Given the description of an element on the screen output the (x, y) to click on. 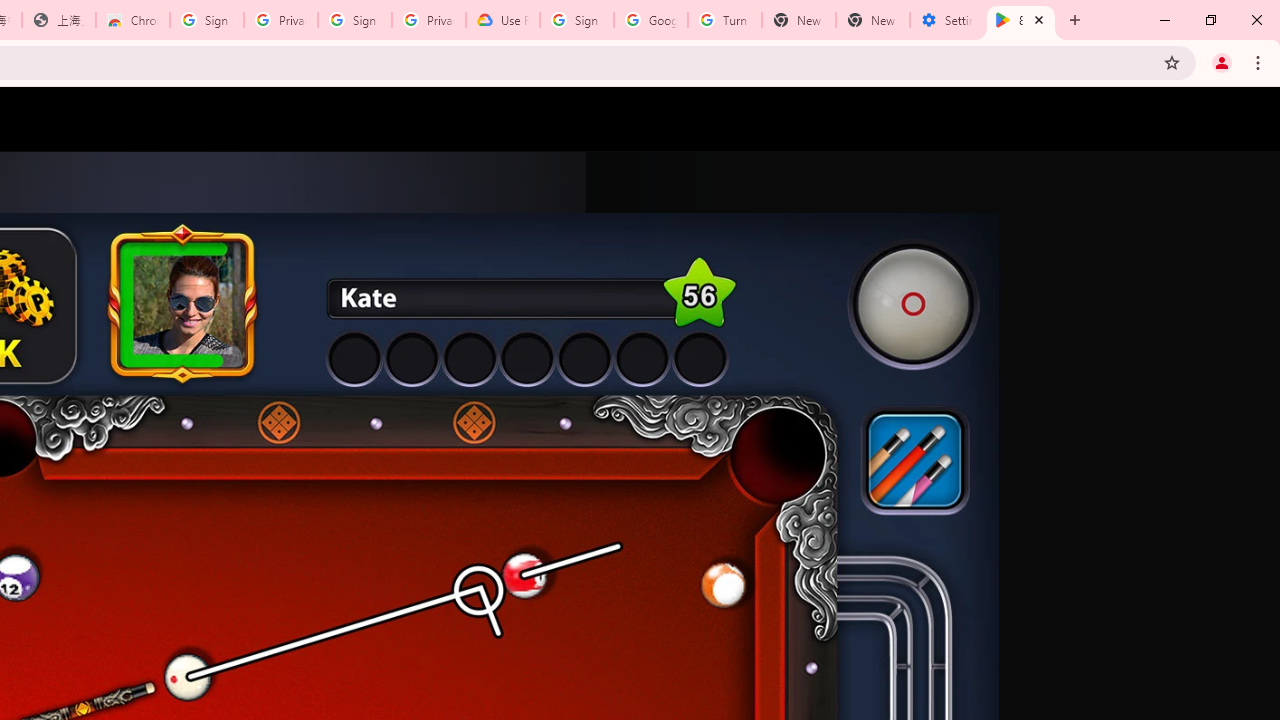
Chrome Web Store - Color themes by Chrome (133, 20)
Sign in - Google Accounts (577, 20)
Turn cookies on or off - Computer - Google Account Help (724, 20)
